Given the description of an element on the screen output the (x, y) to click on. 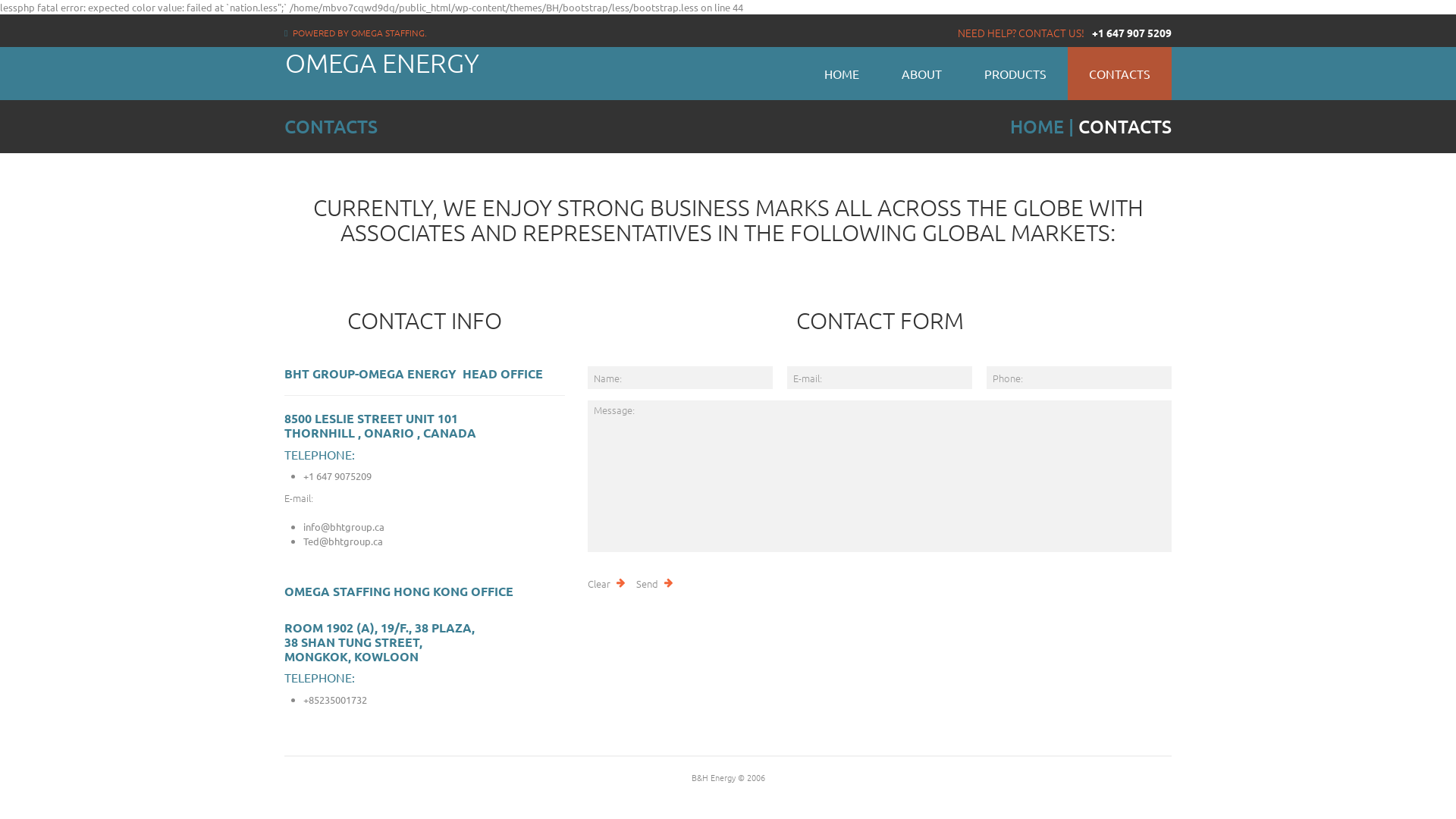
OMEGA ENERGY Element type: text (382, 62)
ABOUT Element type: text (921, 73)
HOME Element type: text (841, 73)
HOME Element type: text (1036, 126)
PRODUCTS Element type: text (1015, 73)
send Element type: text (654, 582)
CONTACTS Element type: text (1119, 73)
